Given the description of an element on the screen output the (x, y) to click on. 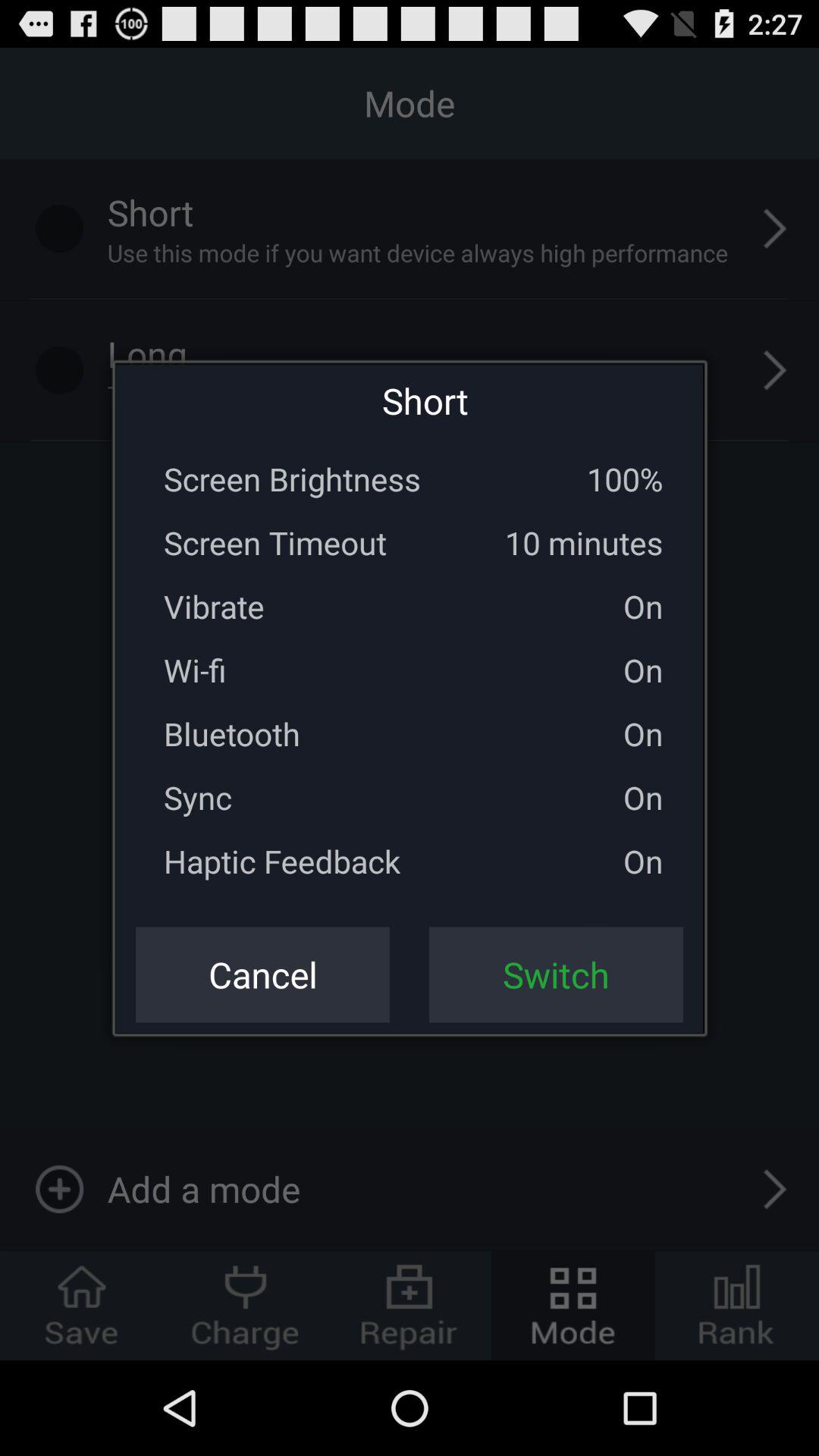
scroll to cancel (262, 974)
